Given the description of an element on the screen output the (x, y) to click on. 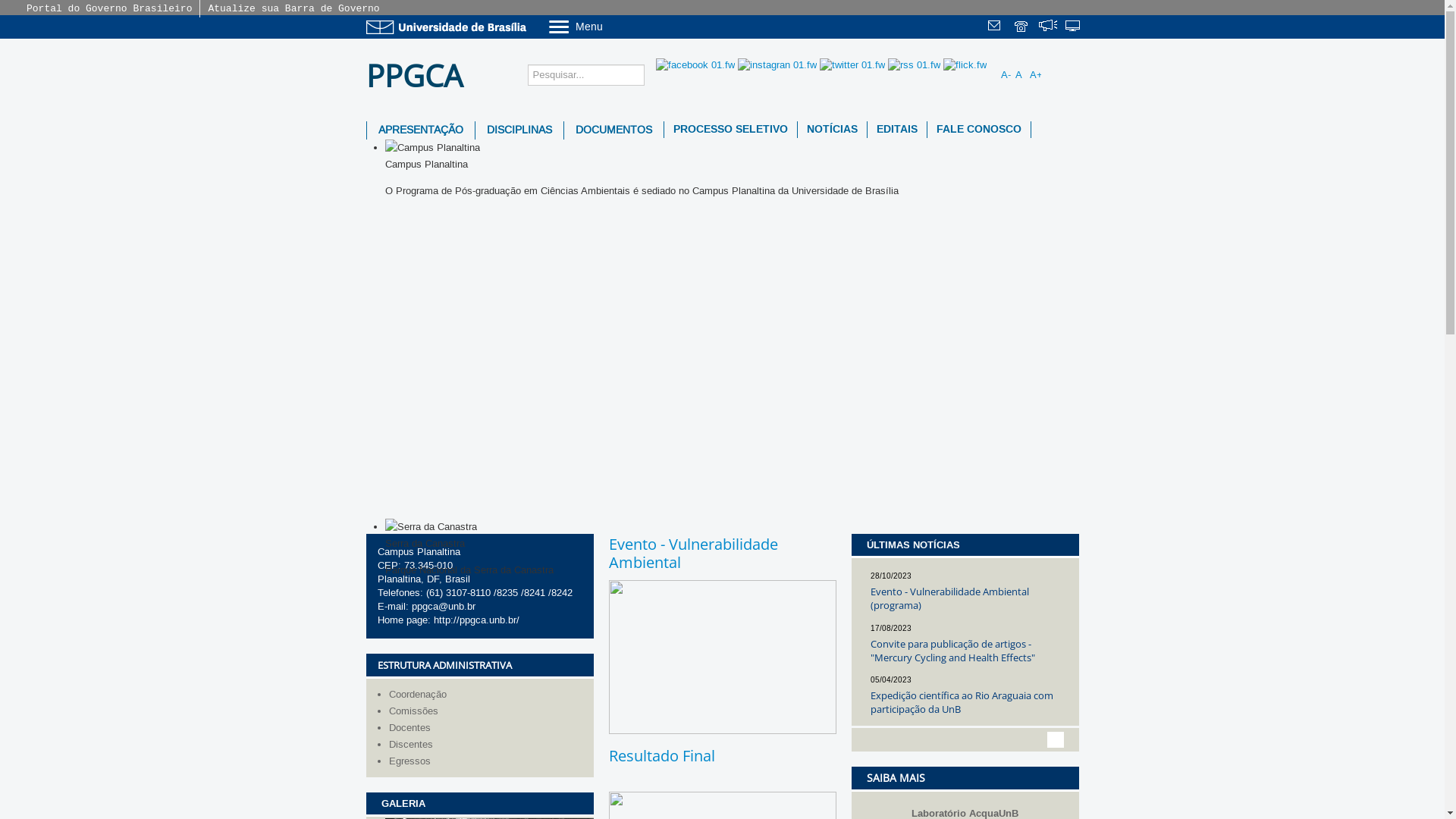
PPGCA Element type: text (419, 75)
Atualize sua Barra de Governo Element type: text (293, 8)
Evento - Vulnerabilidade Ambiental (programa) Element type: text (949, 597)
Resultado Final Element type: text (661, 755)
EDITAIS Element type: text (896, 129)
A- Element type: text (1006, 73)
Docentes Element type: text (486, 727)
A+ Element type: text (1035, 73)
A Element type: text (1020, 73)
Sistemas Element type: hover (1073, 27)
  Element type: text (996, 27)
Telefones da UnB Element type: hover (1022, 27)
http://ppgca.unb.br/ Element type: text (476, 620)
Discentes Element type: text (486, 744)
  Element type: text (1073, 27)
PROCESSO SELETIVO Element type: text (730, 129)
FALE CONOSCO Element type: text (977, 129)
  Element type: text (1047, 27)
Menu Element type: text (613, 25)
Fala.BR Element type: hover (1047, 27)
Portal do Governo Brasileiro Element type: text (108, 8)
Webmail Element type: hover (996, 27)
Ir para o Portal da UnB Element type: hover (448, 26)
Egressos Element type: text (486, 761)
+ Element type: text (1047, 739)
Evento - Vulnerabilidade Ambiental Element type: text (692, 552)
  Element type: text (1022, 27)
